Given the description of an element on the screen output the (x, y) to click on. 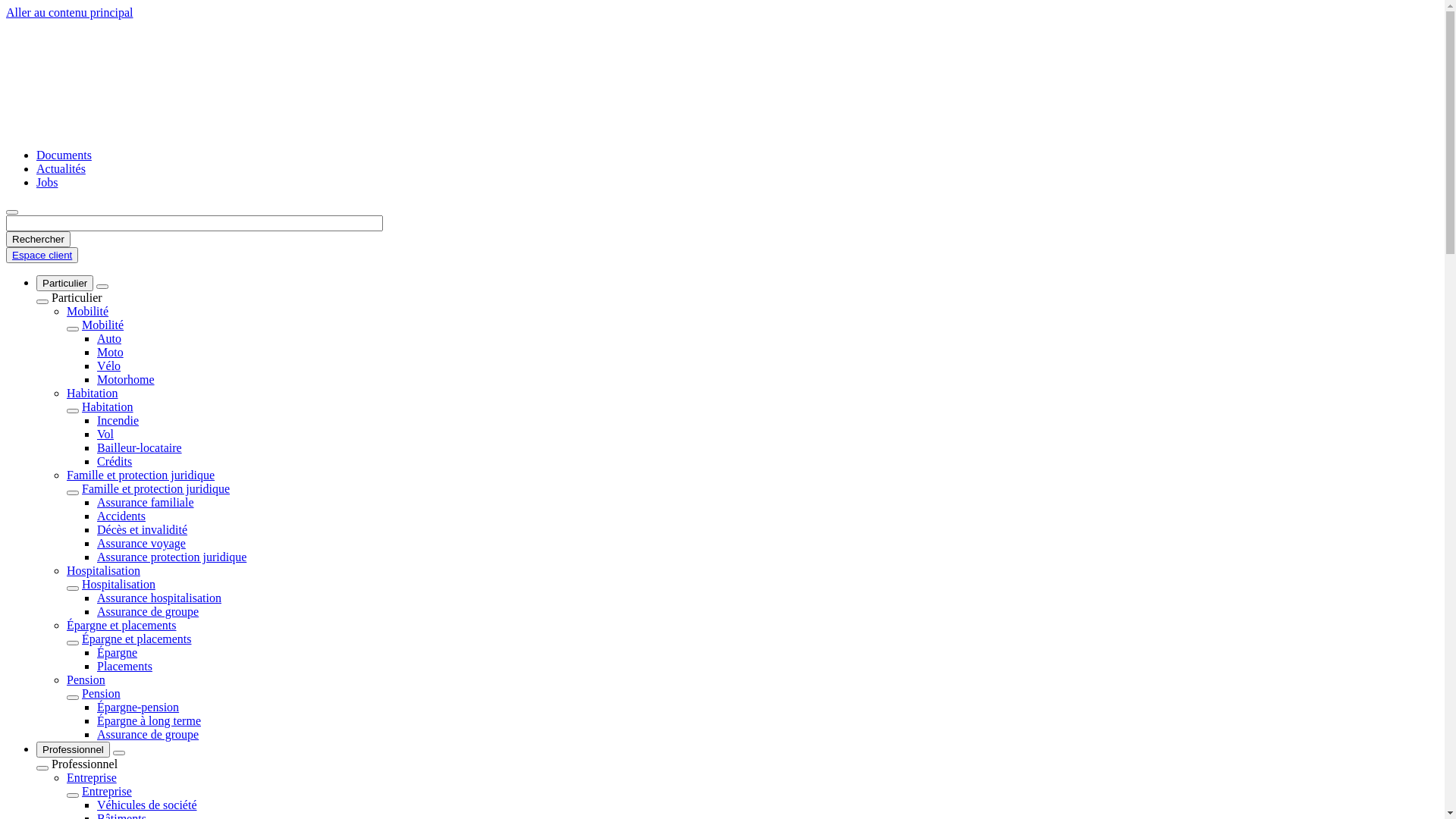
Accidents Element type: text (121, 515)
Placements Element type: text (124, 665)
Espace client Element type: text (42, 254)
Vol Element type: text (105, 433)
Documents Element type: text (63, 154)
Famille et protection juridique Element type: text (140, 474)
Rechercher Element type: text (38, 239)
Moto Element type: text (110, 351)
Aller au contenu principal Element type: text (69, 12)
Assurance familiale Element type: text (145, 501)
Auto Element type: text (109, 338)
Habitation Element type: text (107, 406)
Pension Element type: text (85, 679)
Entreprise Element type: text (106, 790)
Pension Element type: text (100, 693)
Motorhome Element type: text (125, 379)
Particulier Element type: text (64, 283)
Assurance de groupe Element type: text (147, 734)
Famille et protection juridique Element type: text (155, 488)
Hospitalisation Element type: text (103, 570)
Espace client Element type: text (42, 255)
Entreprise Element type: text (91, 777)
Incendie Element type: text (117, 420)
Habitation Element type: text (92, 392)
Professionnel Element type: text (72, 749)
Assurance protection juridique Element type: text (171, 556)
Bailleur-locataire Element type: text (139, 447)
Assurance hospitalisation Element type: text (159, 597)
Assurance voyage Element type: text (141, 542)
Assurance de groupe Element type: text (147, 611)
Jobs Element type: text (46, 181)
Hospitalisation Element type: text (118, 583)
